Given the description of an element on the screen output the (x, y) to click on. 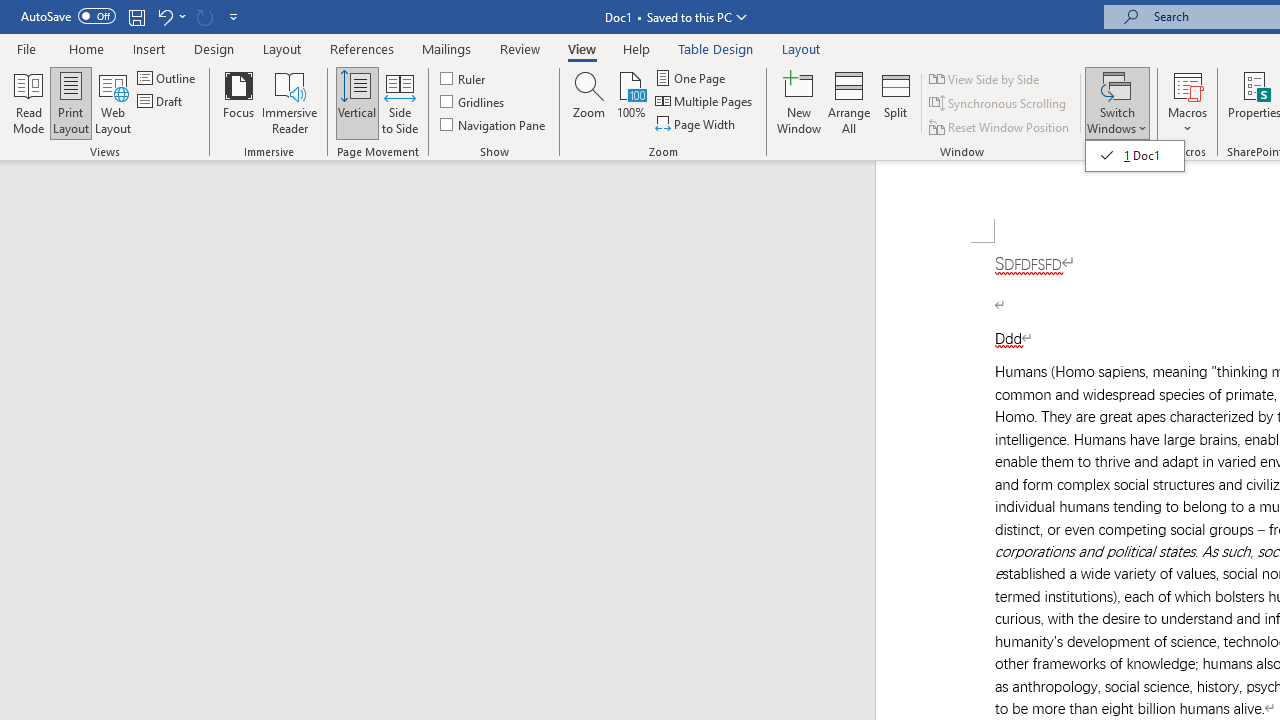
One Page (691, 78)
Can't Repeat (204, 15)
Customize Quick Access Toolbar (234, 15)
Multiple Pages (705, 101)
Insert (149, 48)
Macros (1187, 102)
Undo Apply Quick Style Set (164, 15)
Zoom... (589, 102)
Undo Apply Quick Style Set (170, 15)
Immersive Reader (289, 102)
Table Design (715, 48)
Read Mode (28, 102)
AutoSave (68, 16)
Layout (801, 48)
File Tab (26, 48)
